Given the description of an element on the screen output the (x, y) to click on. 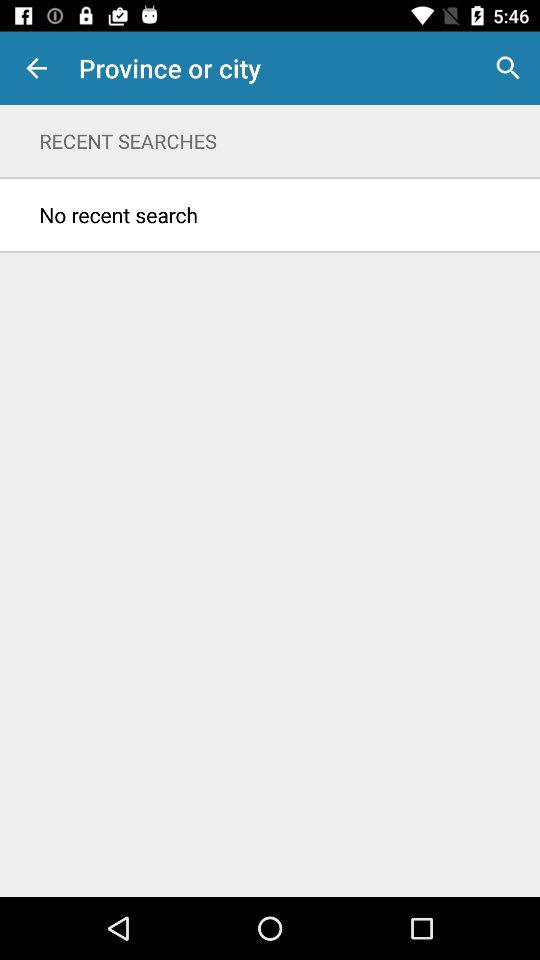
open icon above recent searches item (508, 67)
